Given the description of an element on the screen output the (x, y) to click on. 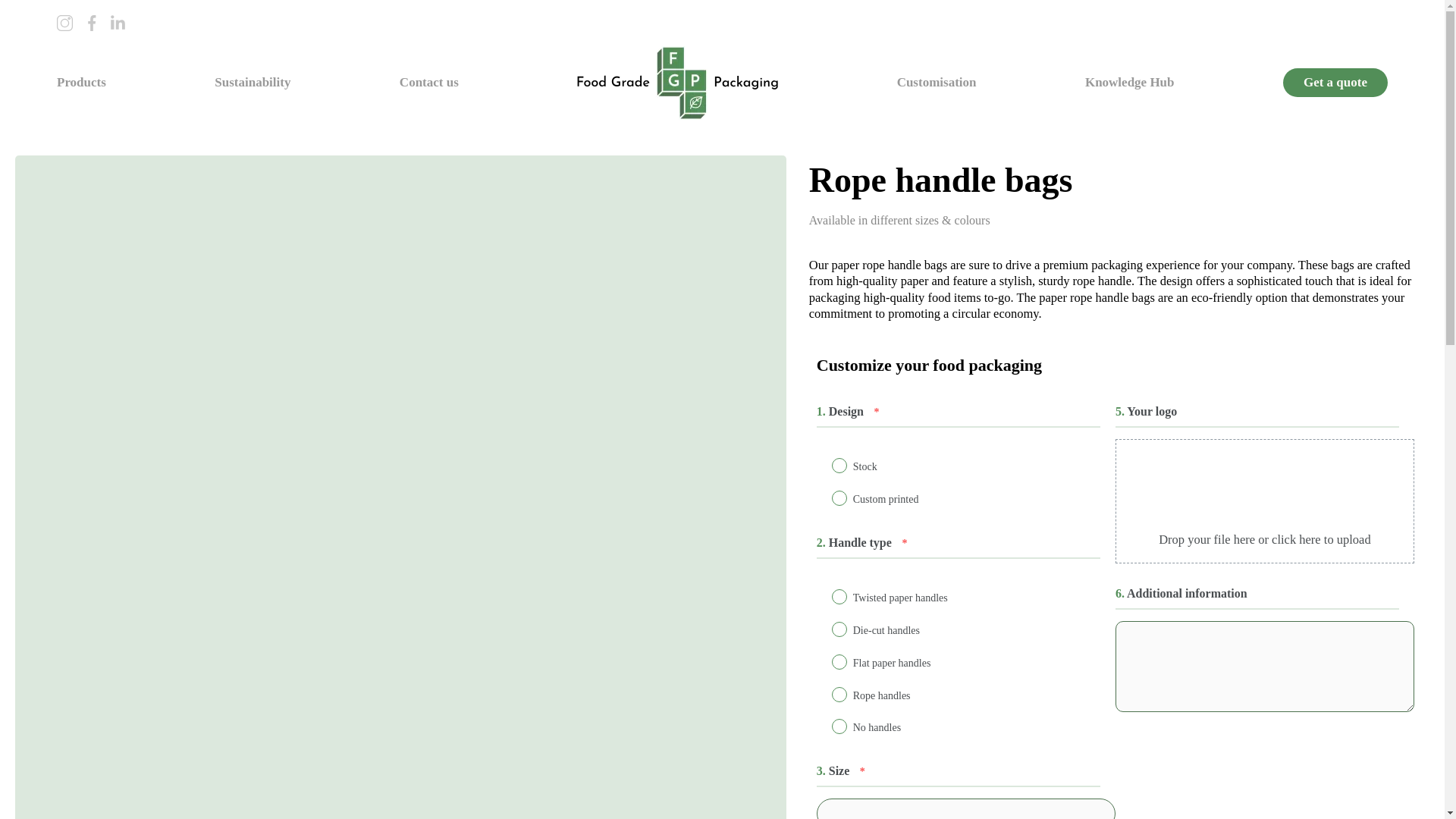
Sustainability (251, 82)
Knowledge Hub (1129, 82)
Products (81, 82)
Get a quote (1334, 82)
Customisation (936, 82)
Contact us (428, 82)
